Given the description of an element on the screen output the (x, y) to click on. 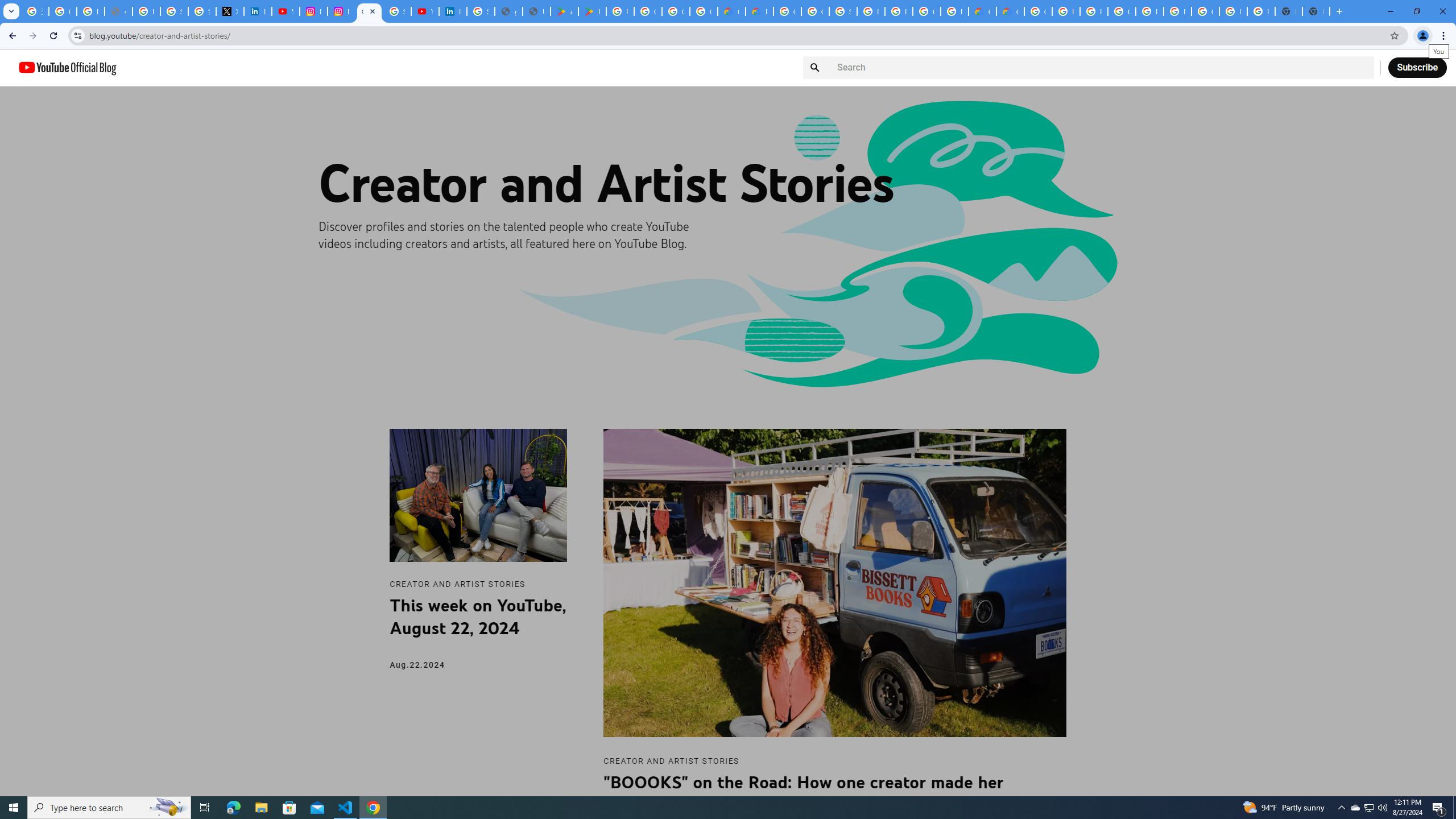
YouTube Content Monetization Policies - How YouTube Works (285, 11)
Google Workspace - Specific Terms (675, 11)
AutomationID: search_bar_input_header (1089, 67)
Customer Care | Google Cloud (731, 11)
Submit Search (816, 67)
